Given the description of an element on the screen output the (x, y) to click on. 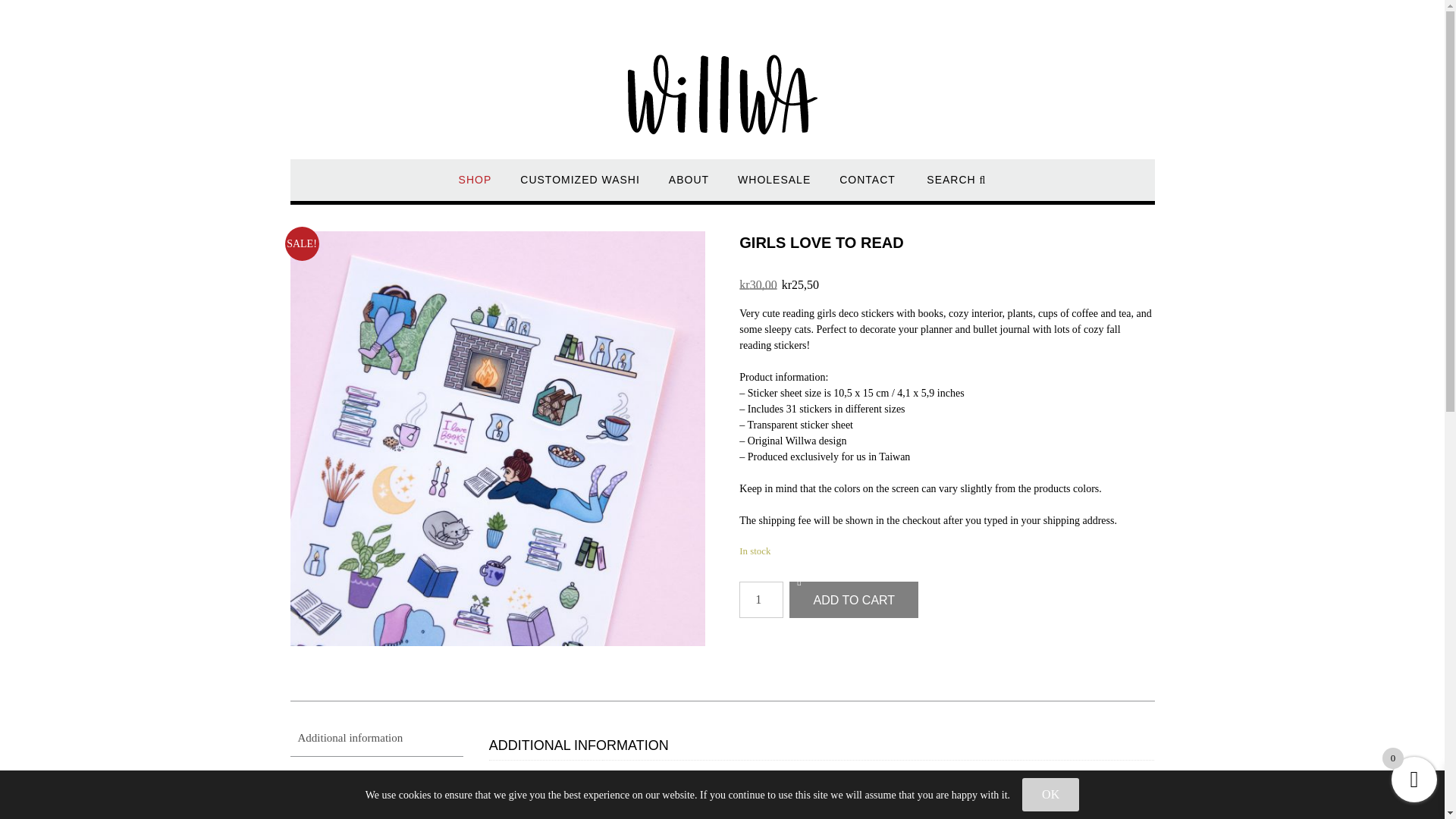
Willwa (721, 70)
ADD TO CART (853, 599)
SHOP (475, 186)
SEARCH (955, 186)
1 (761, 599)
WHOLESALE (774, 186)
ABOUT (688, 186)
CUSTOMIZED WASHI (579, 186)
CONTACT (867, 186)
